Given the description of an element on the screen output the (x, y) to click on. 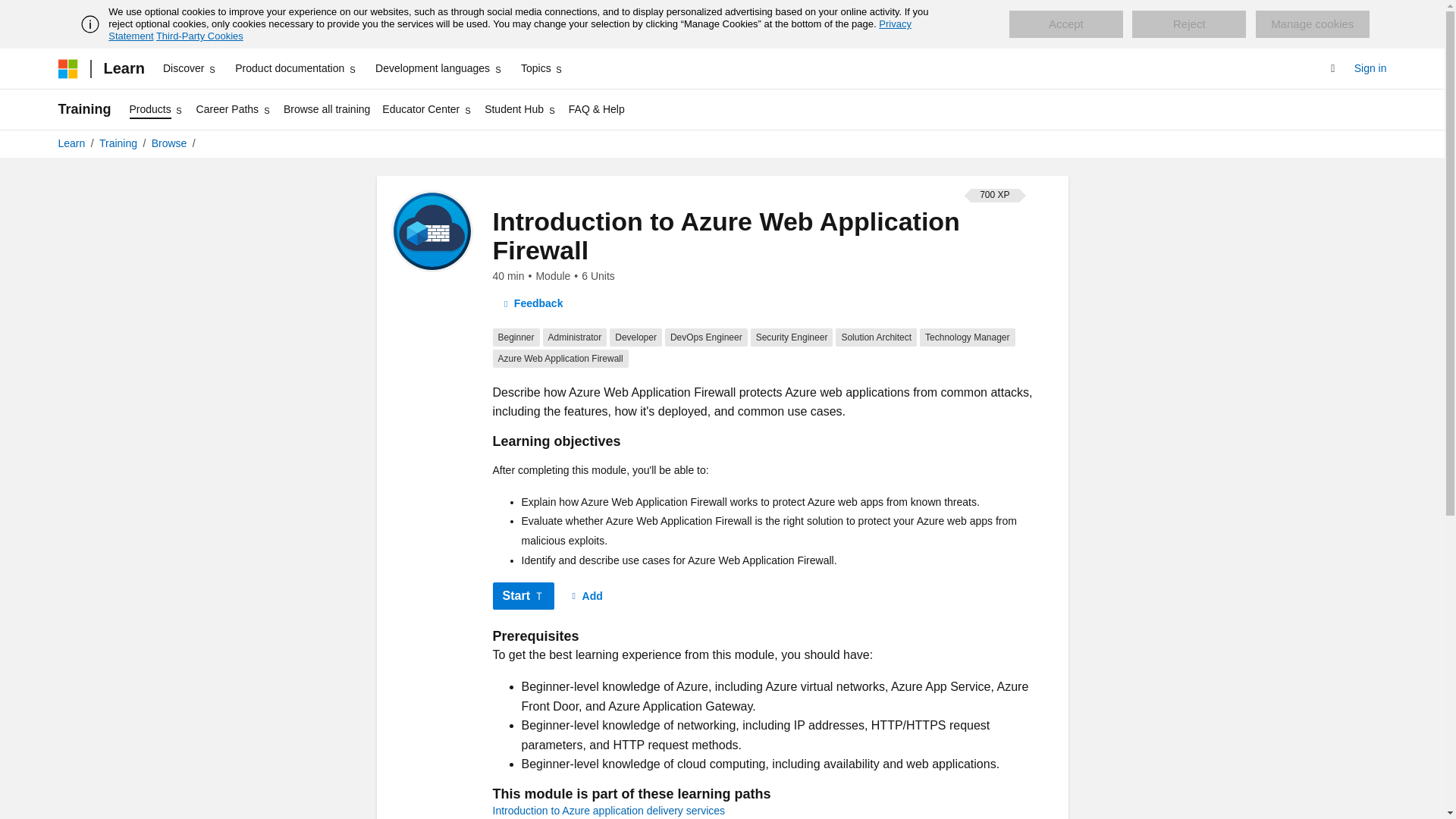
Learn (123, 68)
Discover (189, 68)
Product documentation (295, 68)
Sign in (1370, 68)
Development languages (438, 68)
Privacy Statement (509, 29)
Reject (1189, 23)
Accept (1065, 23)
Skip to main content (11, 11)
Training (84, 109)
Career Paths (234, 109)
Third-Party Cookies (199, 35)
Products (156, 109)
Manage cookies (1312, 23)
Topics (542, 68)
